Given the description of an element on the screen output the (x, y) to click on. 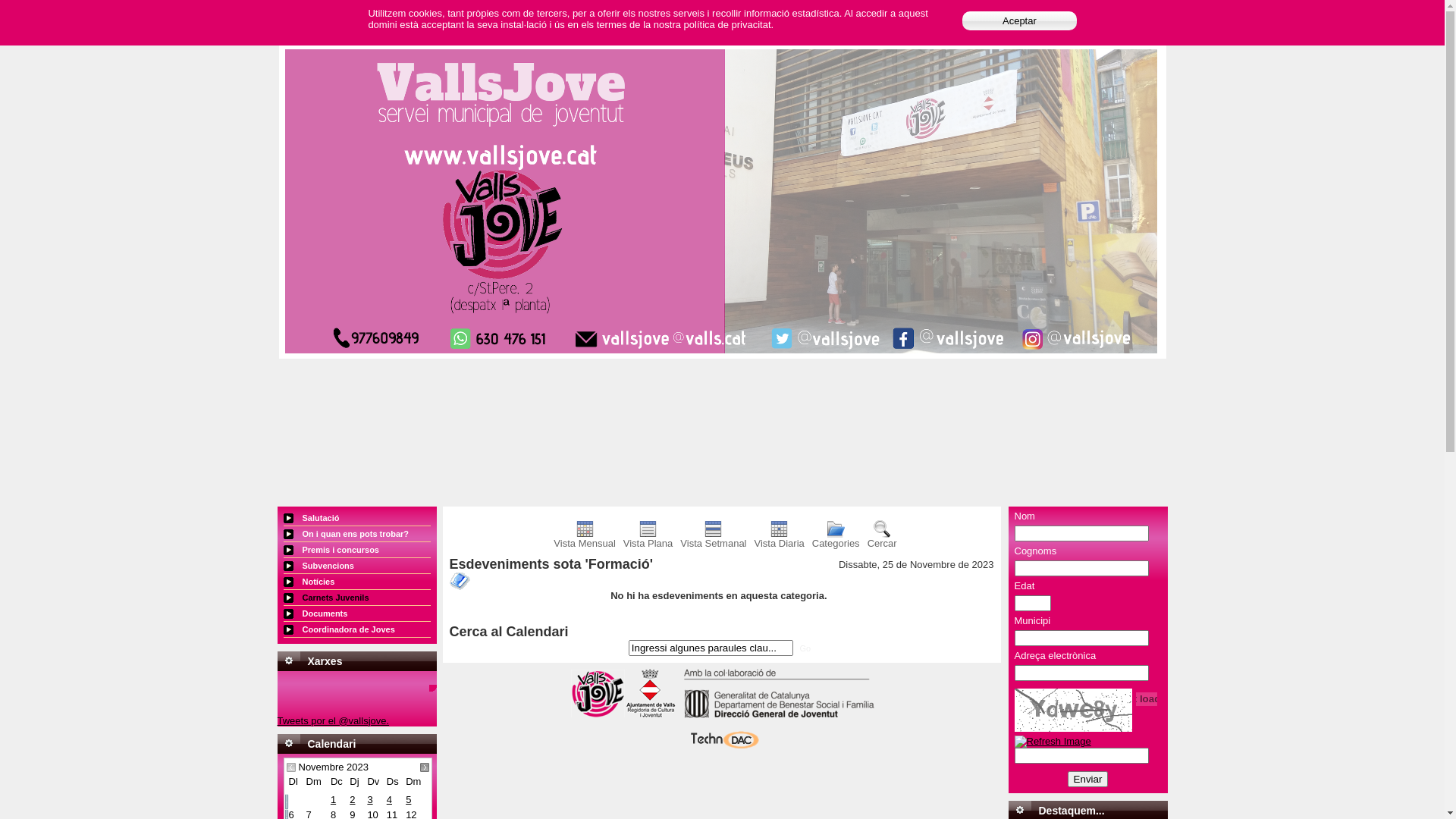
1 Element type: text (332, 799)
Go Element type: text (804, 648)
Vista Diaria Element type: text (779, 538)
On i quan ens pots trobar? Element type: text (356, 534)
2 Element type: text (351, 799)
Premis i concursos Element type: text (356, 550)
Desembre 2023 Element type: hover (424, 766)
technodac Element type: hover (721, 747)
Refresh Image Element type: hover (1052, 740)
Secretaria General de la Joventut Element type: hover (773, 714)
Documents Element type: text (356, 613)
Categories Element type: text (835, 538)
Ajuntament de Valls, Regidoria de Cultura i Joventut Element type: hover (650, 714)
4 Element type: text (389, 799)
Vista Mensual Element type: text (584, 538)
Vista Plana Element type: text (648, 538)
Enviar Element type: text (1087, 779)
Coordinadora de Joves Element type: text (356, 629)
Cercar Element type: text (882, 538)
Carnets Juvenils Element type: text (356, 597)
Vista Setmanal Element type: text (713, 538)
5 Element type: text (408, 799)
Tweets por el @vallsjove. Element type: text (333, 720)
Subvencions Element type: text (356, 566)
3 Element type: text (369, 799)
